Given the description of an element on the screen output the (x, y) to click on. 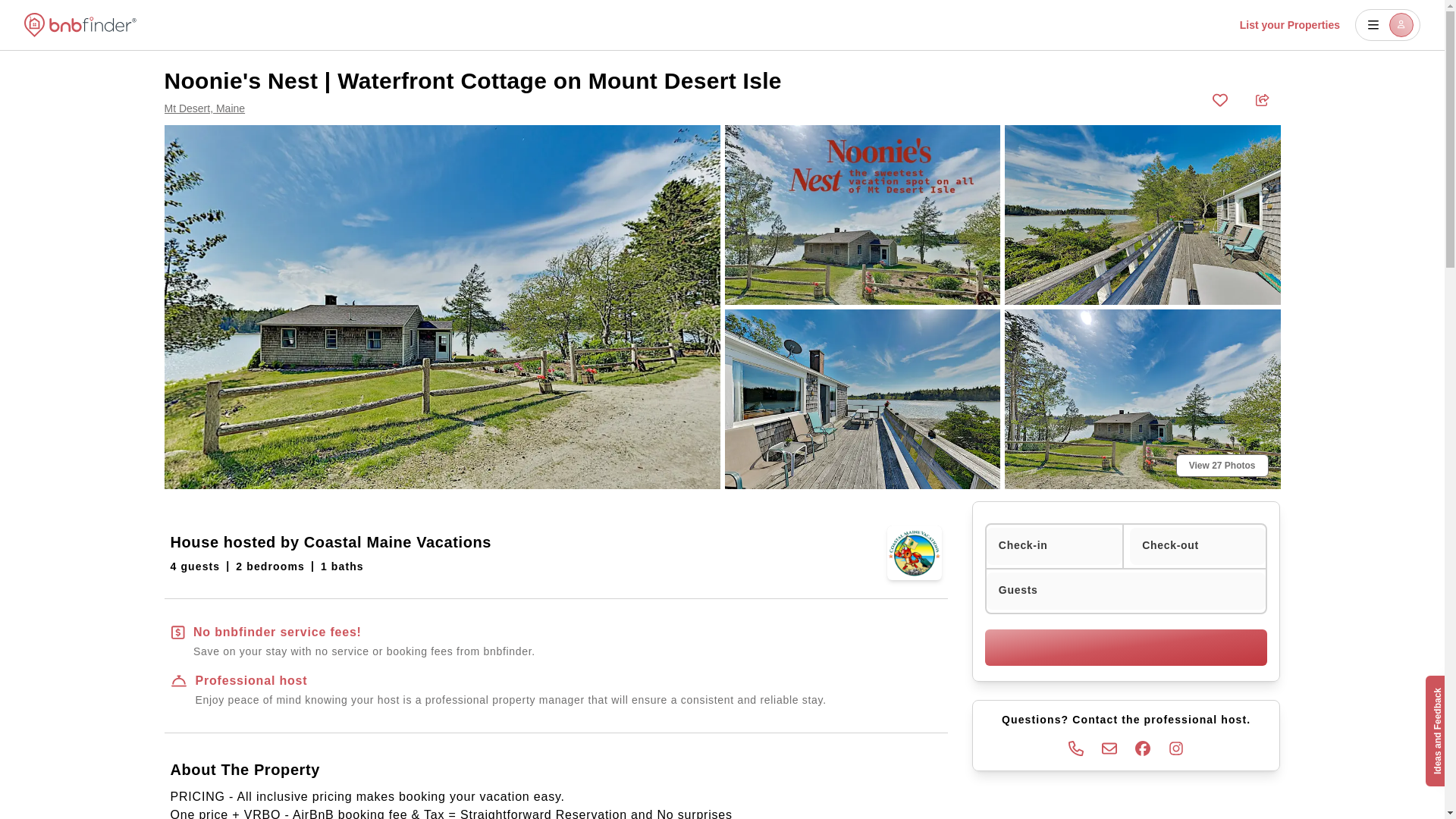
Open user menu (1388, 24)
List your Properties (1289, 24)
View 27 Photos (1222, 465)
